Given the description of an element on the screen output the (x, y) to click on. 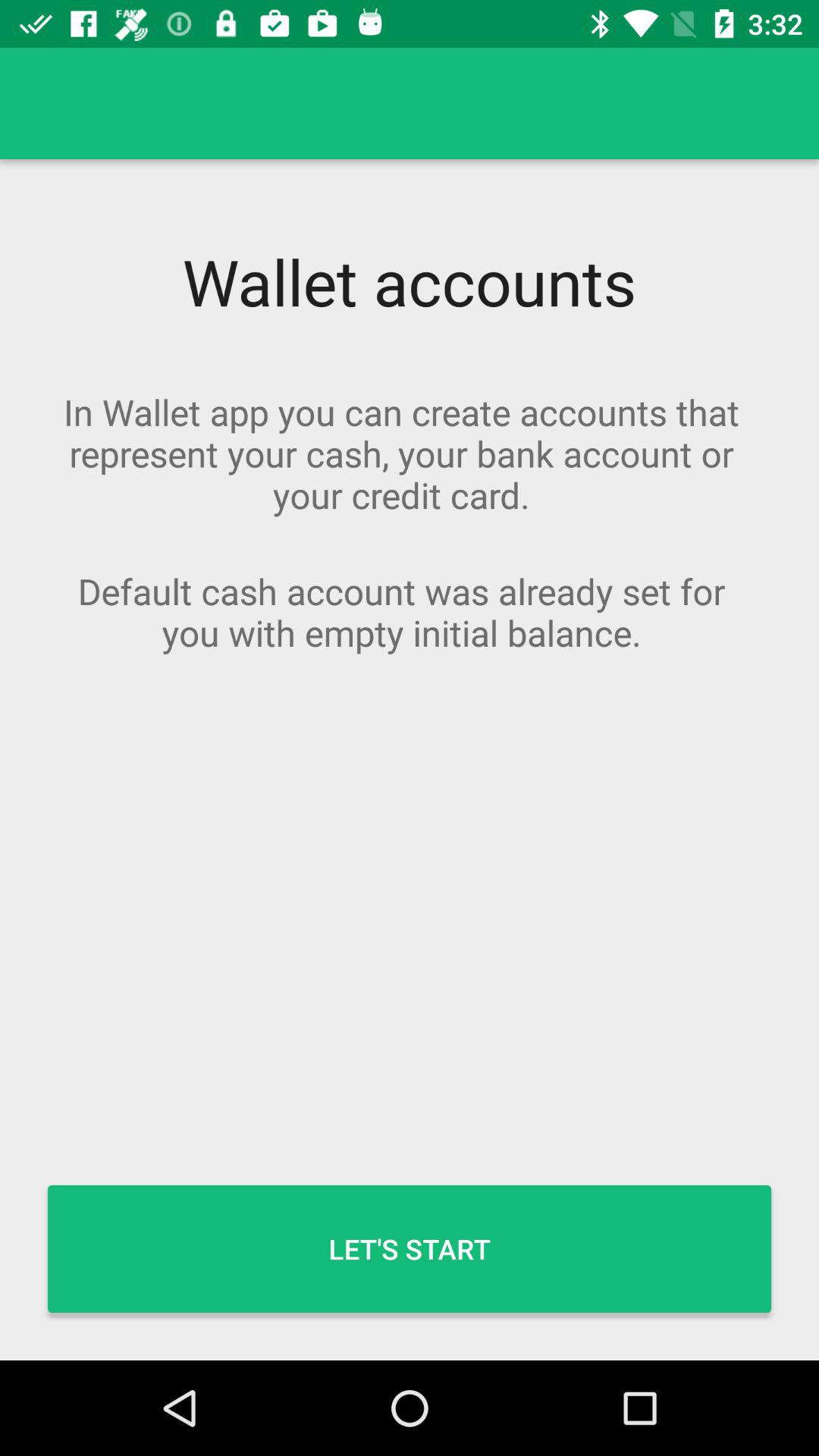
choose the let's start (409, 1248)
